Given the description of an element on the screen output the (x, y) to click on. 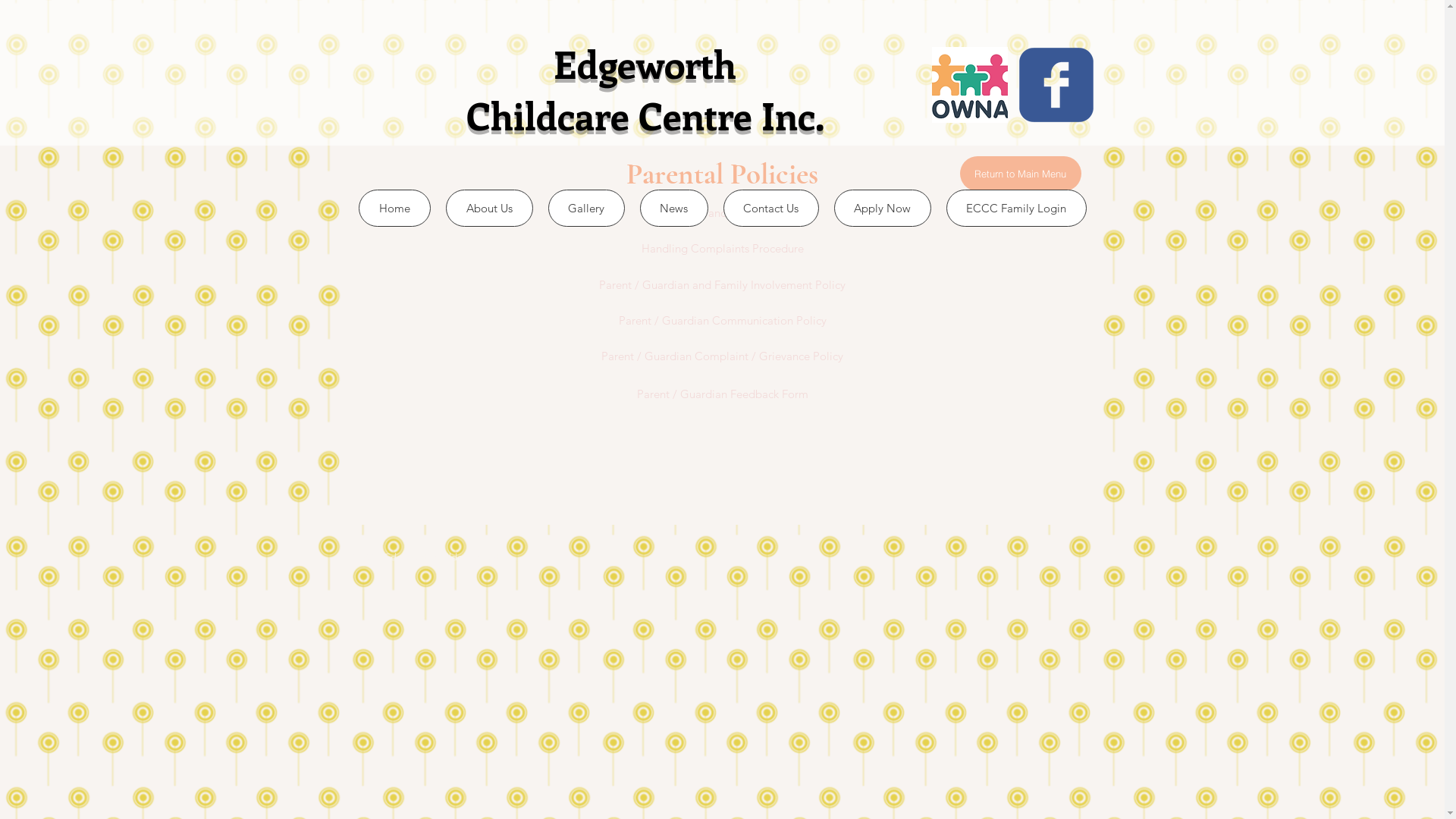
Parent / Guardian Complaint / Grievance Policy Element type: text (721, 355)
Contact Us Element type: text (771, 207)
Parent / Guardian Feedback Form Element type: text (721, 393)
Apply Now Element type: text (882, 207)
Return to Main Menu Element type: text (1020, 173)
Family Law and Access Policy Element type: text (721, 212)
Handling Complaints Procedure Element type: text (721, 247)
News Element type: text (674, 207)
Parent / Guardian Communication Policy Element type: text (721, 319)
About Us Element type: text (489, 207)
Gallery Element type: text (585, 207)
Home Element type: text (393, 207)
Parent / Guardian and Family Involvement Policy Element type: text (721, 284)
ECCC Family Login Element type: text (1016, 207)
